Given the description of an element on the screen output the (x, y) to click on. 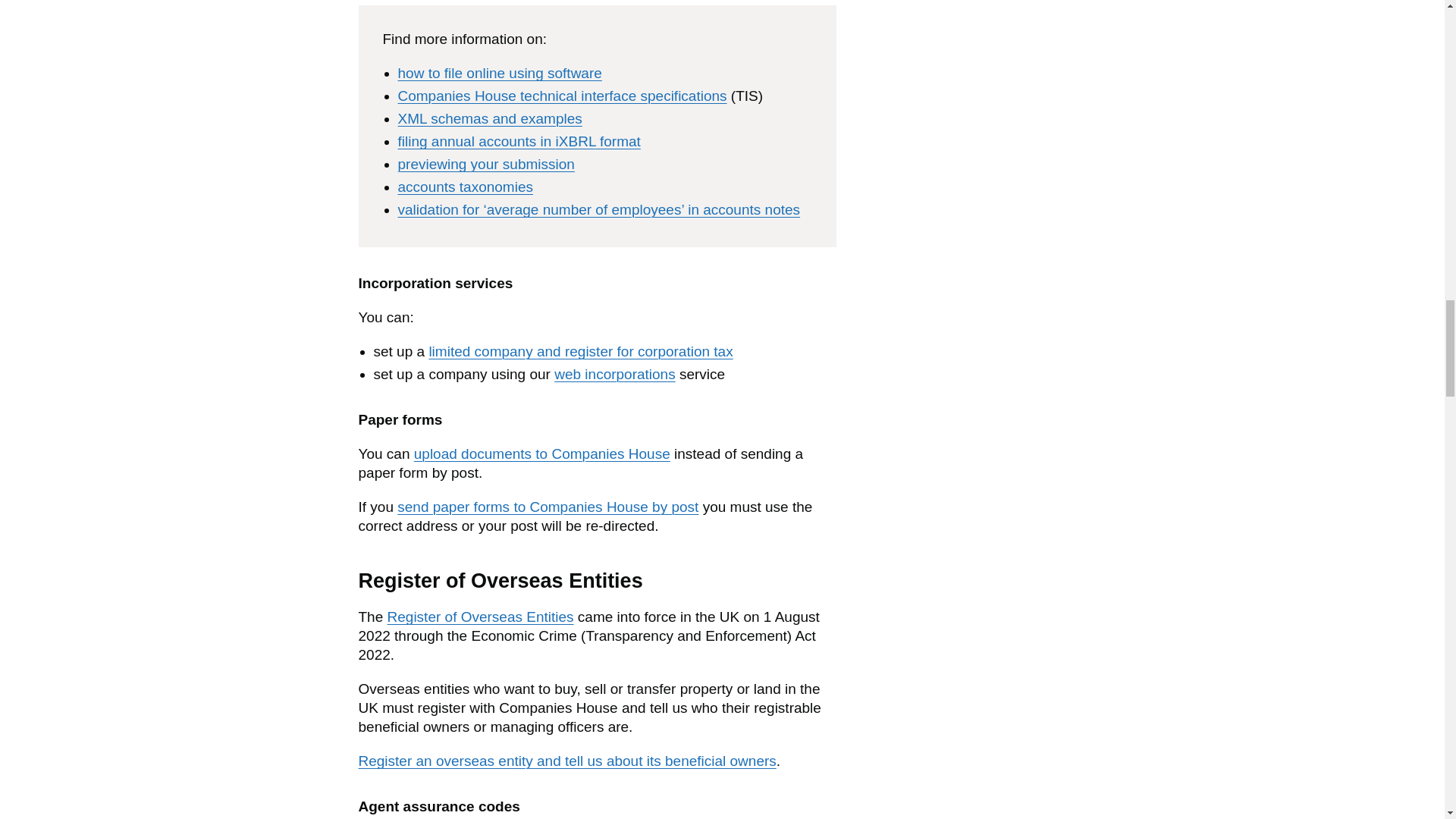
Technical Interface Specification (746, 95)
inline eXtensible Business Reporting Language (575, 141)
eXtensible Markup Language (411, 118)
